Given the description of an element on the screen output the (x, y) to click on. 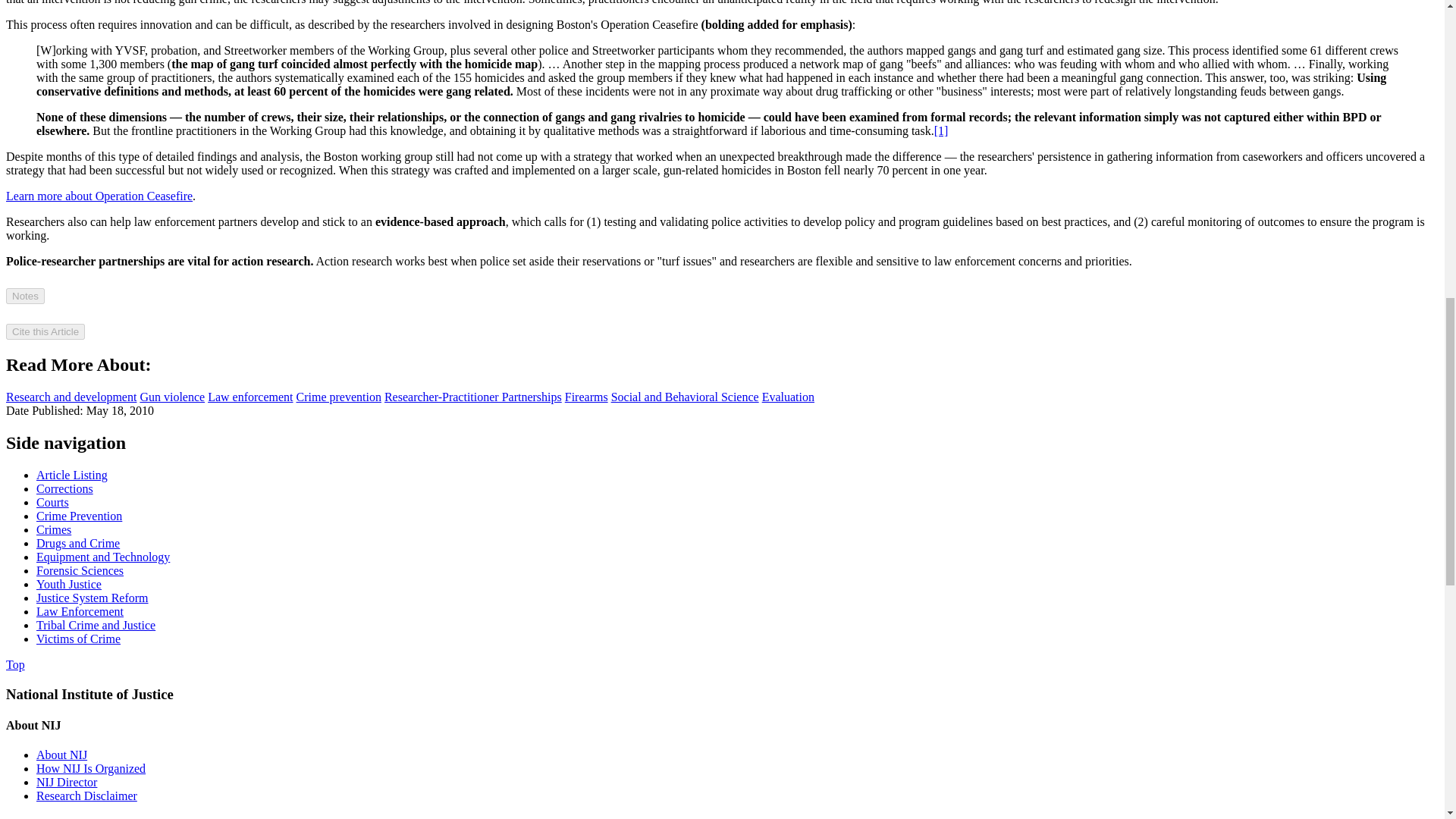
Researcher-Practitioner Partnerships (473, 396)
Research and development (70, 396)
Gun violence (172, 396)
Social and Behavioral Science (684, 396)
Notes (25, 295)
Cite this Article (44, 331)
Article Listing (71, 474)
Crime prevention (339, 396)
Evaluation (787, 396)
Learn more about Operation Ceasefire (98, 195)
